Given the description of an element on the screen output the (x, y) to click on. 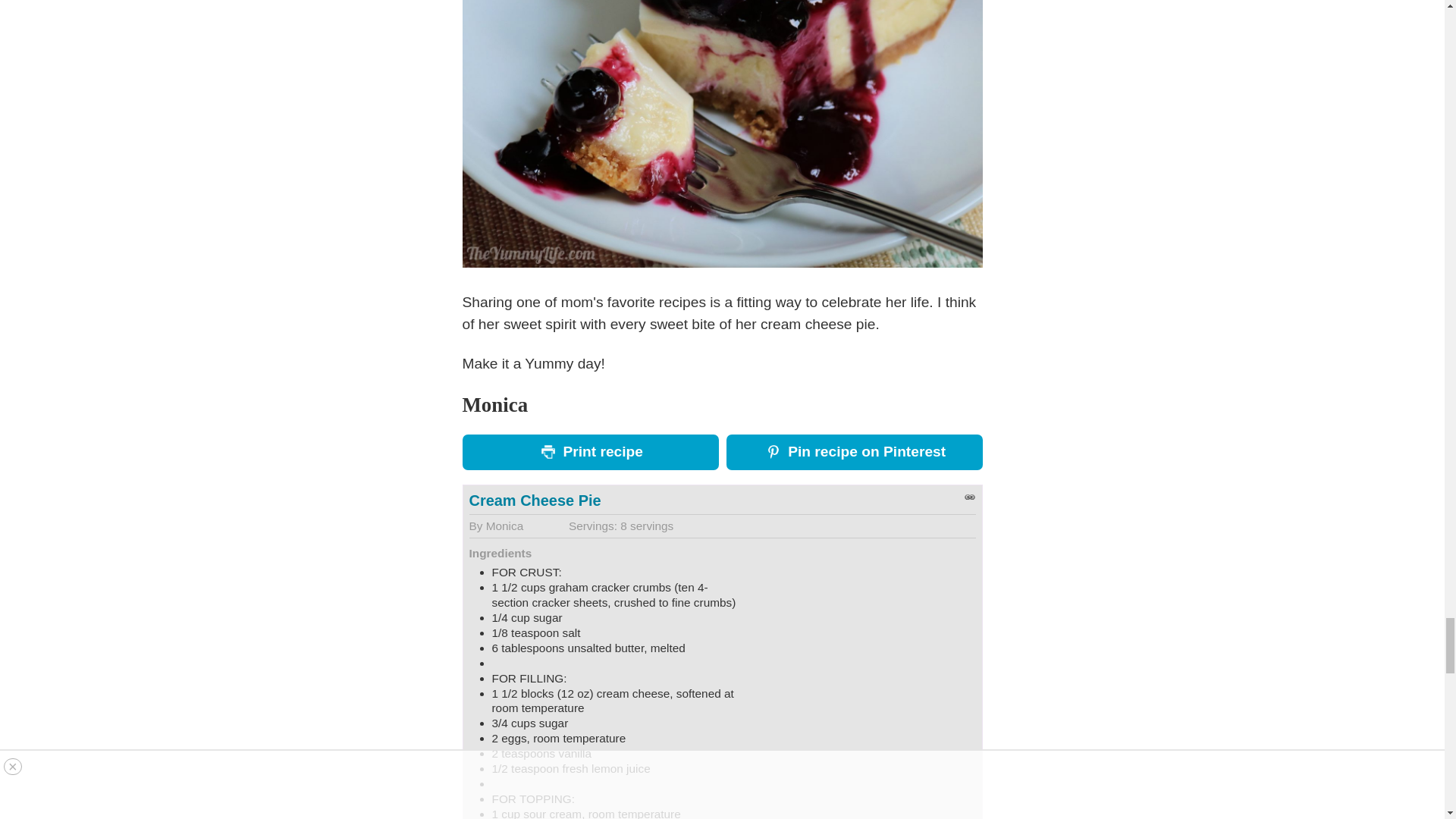
Link directly to this recipe (968, 497)
